Given the description of an element on the screen output the (x, y) to click on. 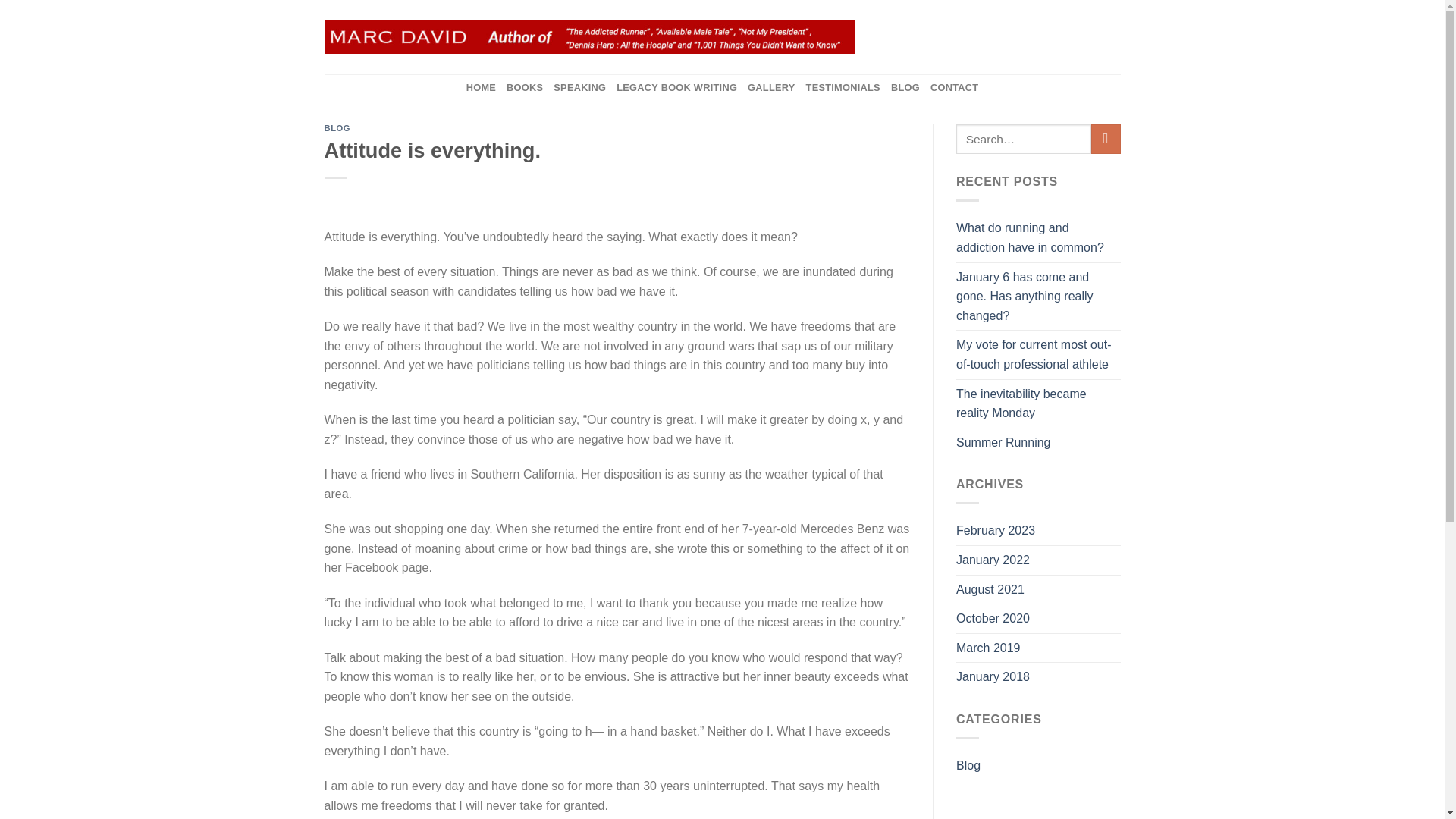
CONTACT (954, 87)
March 2019 (988, 647)
TESTIMONIALS (843, 87)
February 2023 (995, 530)
August 2021 (990, 589)
January 2018 (992, 676)
What do running and addiction have in common? (1038, 237)
January 2022 (992, 560)
October 2020 (992, 618)
My vote for current most out-of-touch professional athlete (1038, 354)
The inevitability became reality Monday (1038, 403)
Summer Running (1003, 442)
SPEAKING (579, 87)
BOOKS (524, 87)
LEGACY BOOK WRITING (675, 87)
